Given the description of an element on the screen output the (x, y) to click on. 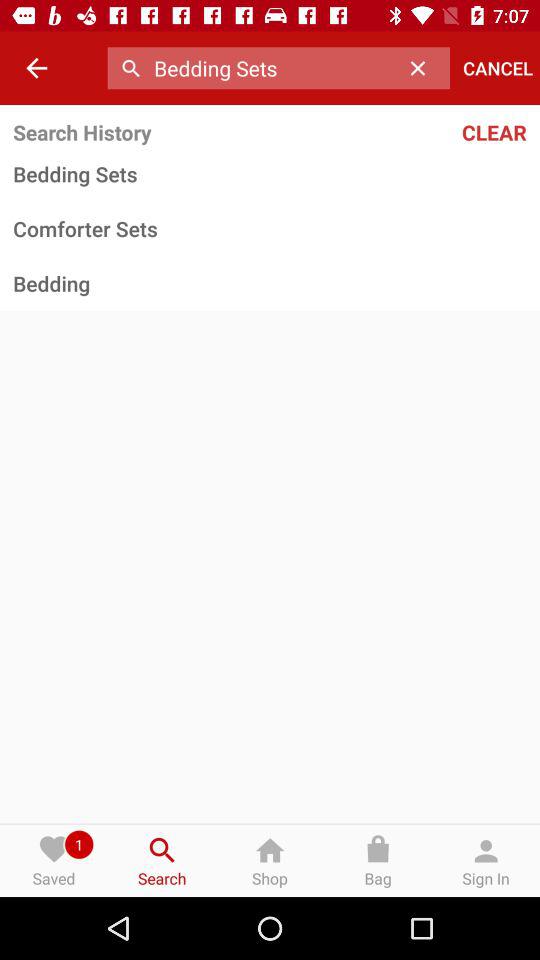
choose the item above the bedding sets (449, 132)
